Given the description of an element on the screen output the (x, y) to click on. 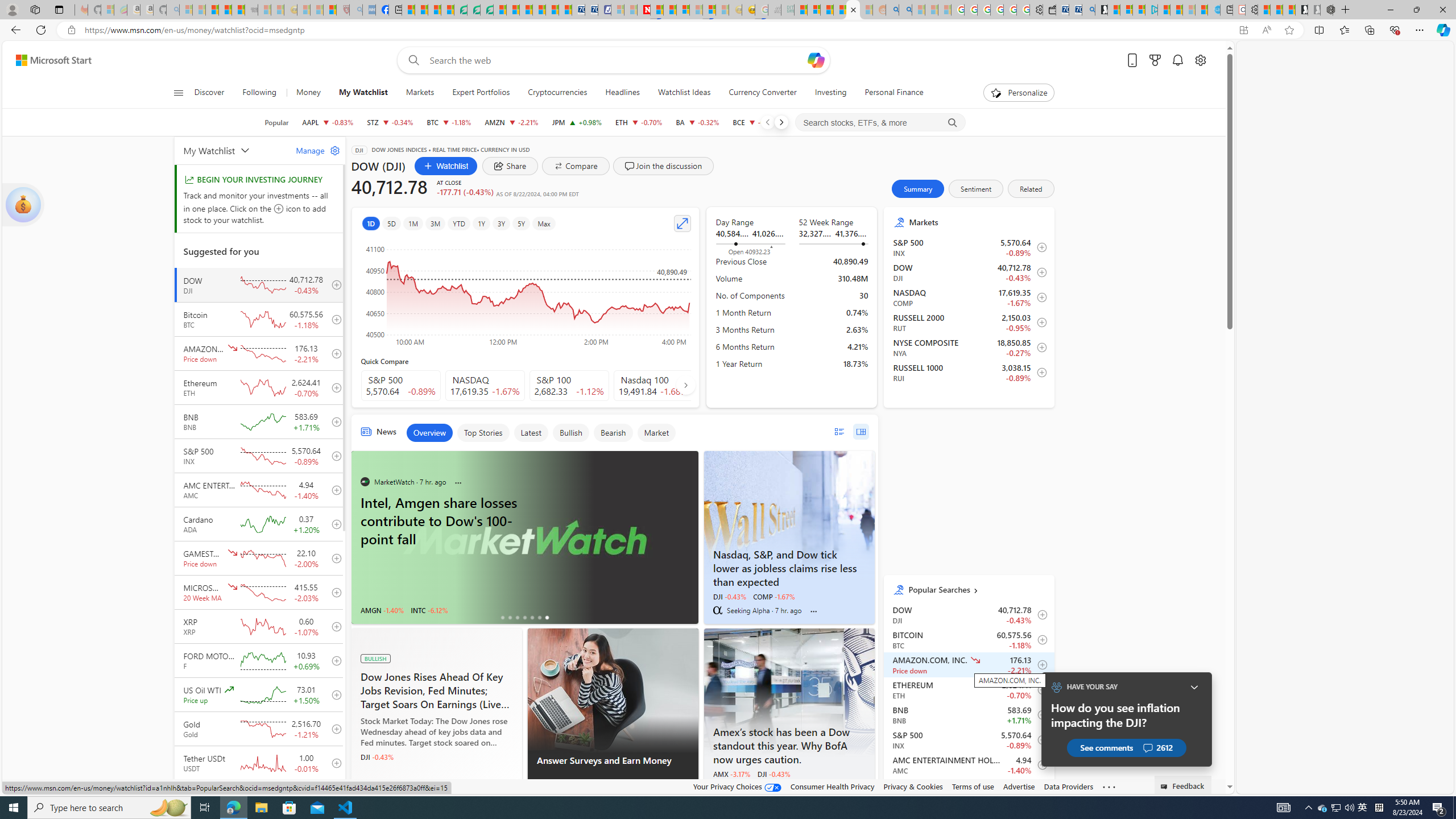
grid layout (861, 431)
Watchlist (445, 166)
STZ CONSTELLATION BRANDS, INC. decrease 243.92 -0.82 -0.34% (389, 122)
Max (544, 223)
Data Providers (1068, 786)
ADA Cardano increase 0.37 +0.00 +1.20% itemundefined (968, 789)
Money (307, 92)
Web search (411, 60)
Enter your search term (617, 59)
